Given the description of an element on the screen output the (x, y) to click on. 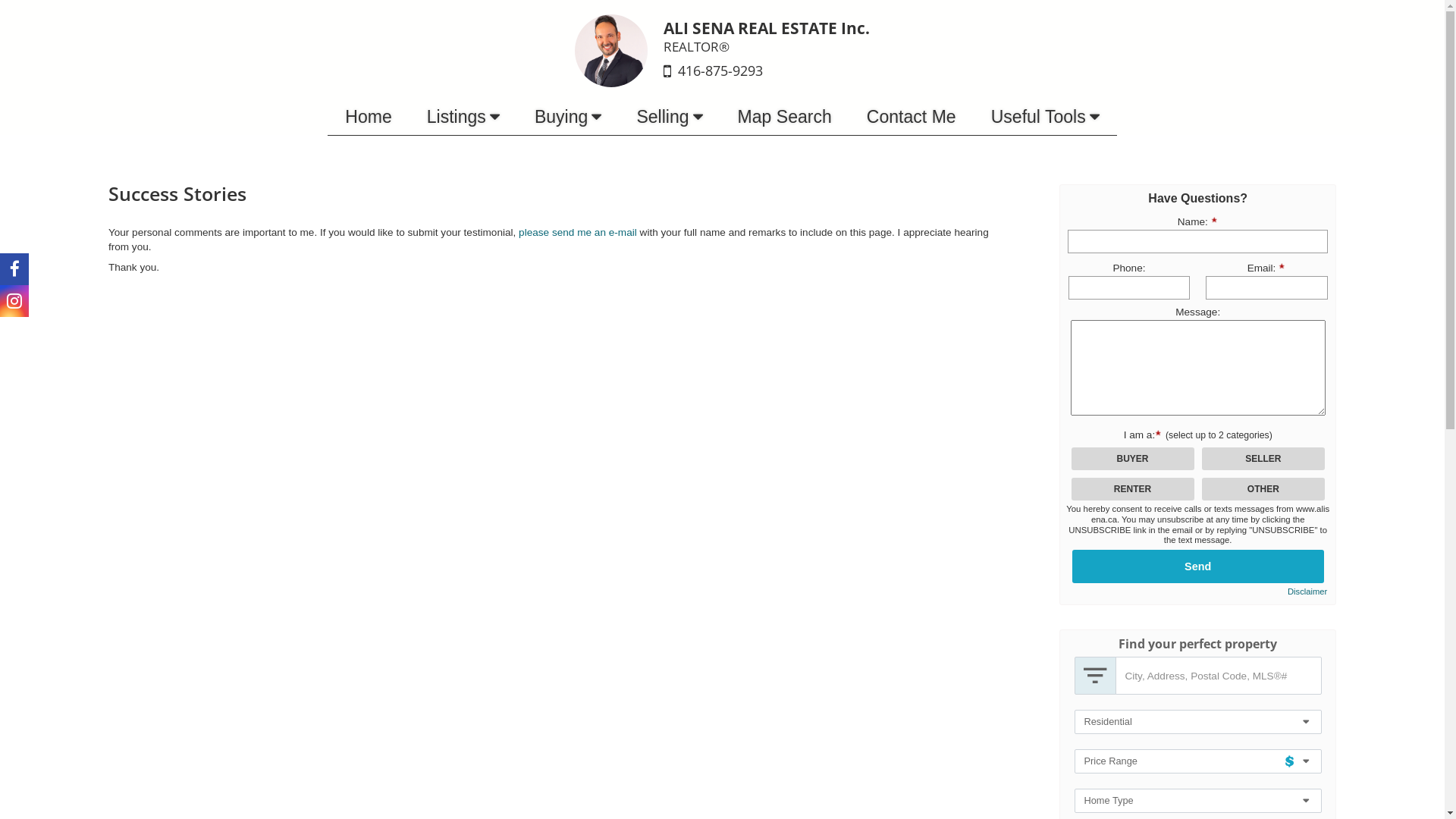
Contact Me Element type: text (911, 116)
Search by Element type: text (1094, 675)
Selling Element type: text (668, 116)
Listings Element type: text (463, 116)
Home Element type: text (368, 116)
Send Element type: text (1198, 566)
Map Search Element type: text (784, 116)
please send me an e-mail Element type: text (577, 232)
416-875-9293 Element type: text (719, 70)
Price Range Element type: text (1197, 761)
BUYER Element type: text (4, 4)
Disclaimer Element type: text (1307, 591)
Residential Element type: text (1197, 721)
Buying Element type: text (567, 116)
Home Type Element type: text (1197, 800)
Useful Tools Element type: text (1045, 116)
